Given the description of an element on the screen output the (x, y) to click on. 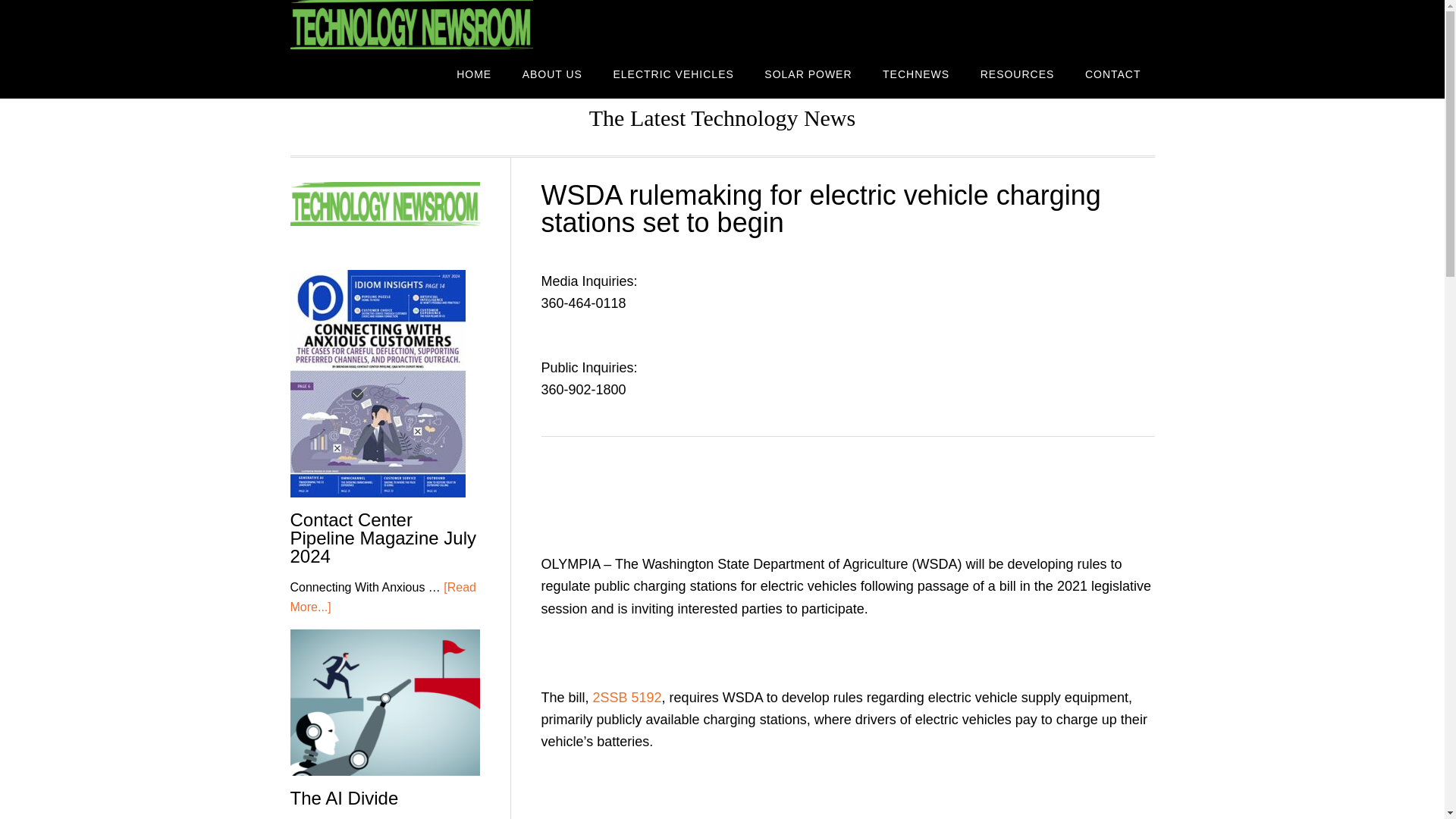
CONTACT (1112, 73)
Contact Center Pipeline Magazine July 2024 (382, 537)
TECHNOLOGY NEWSROOM (410, 24)
HOME (473, 73)
The AI Divide (343, 797)
SOLAR POWER (807, 73)
ABOUT US (551, 73)
2SSB 5192 (627, 697)
ELECTRIC VEHICLES (672, 73)
TECHNEWS (915, 73)
RESOURCES (1017, 73)
